Given the description of an element on the screen output the (x, y) to click on. 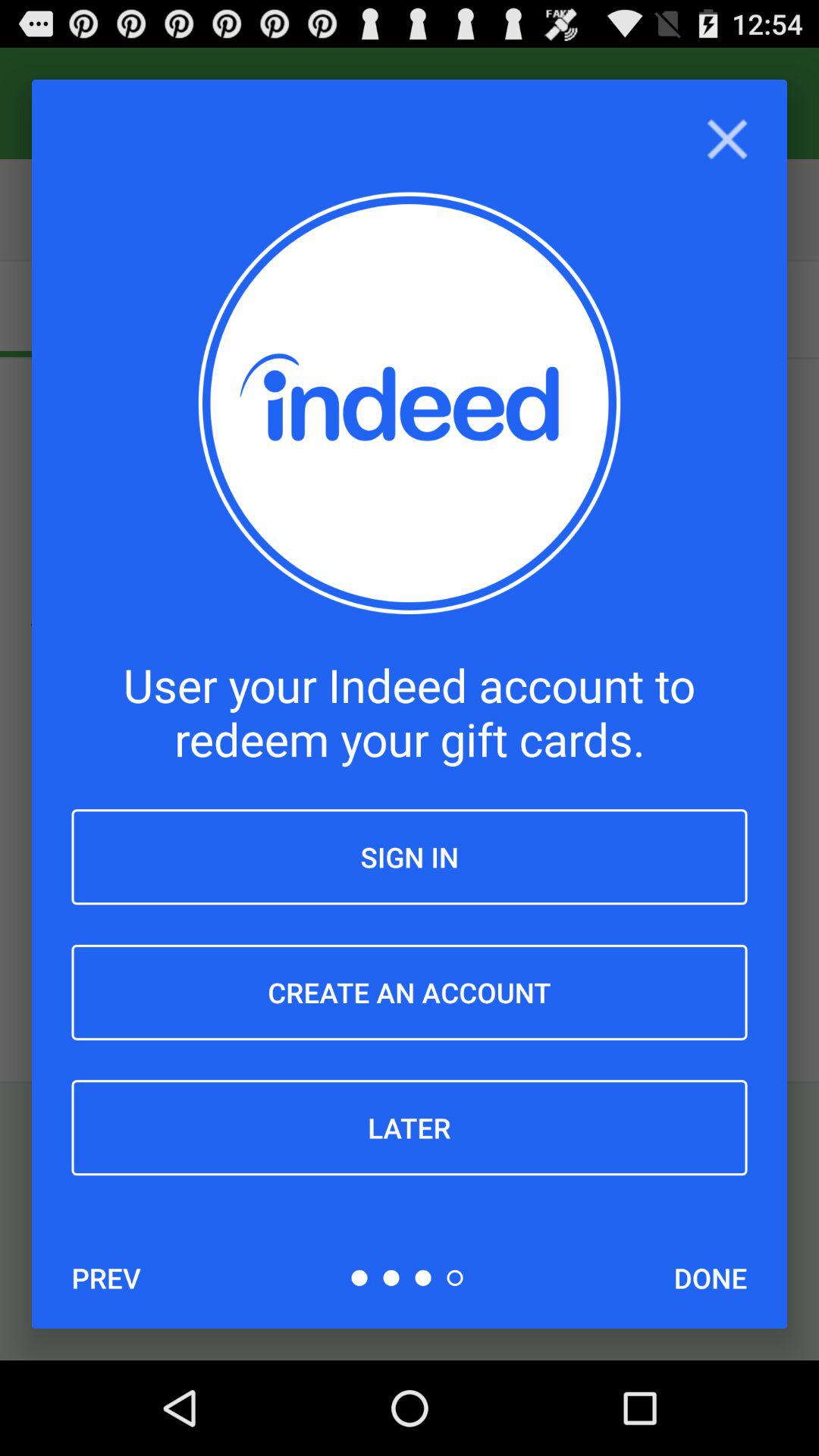
open item above the prev (409, 1127)
